Given the description of an element on the screen output the (x, y) to click on. 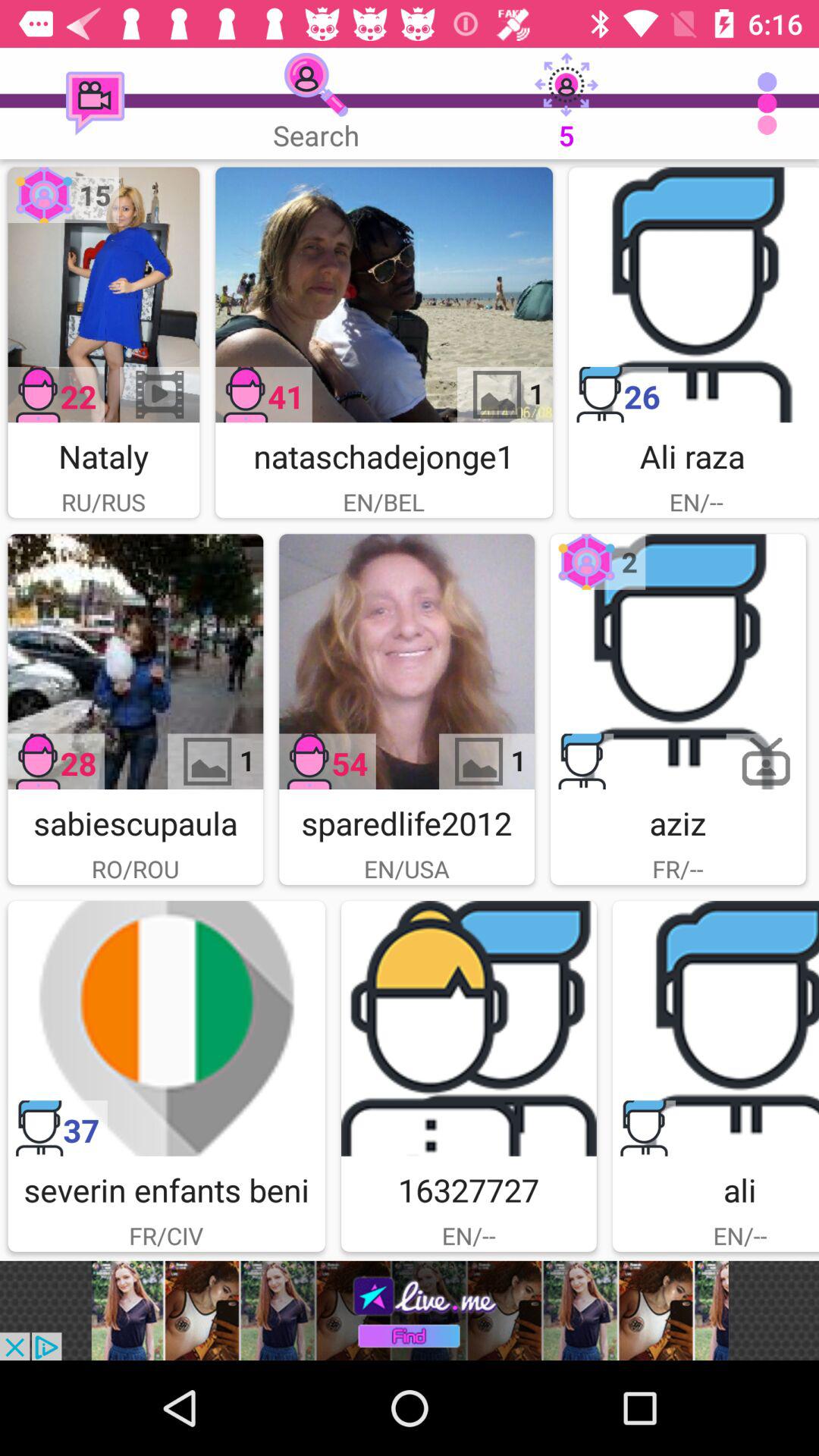
image in uploand (677, 661)
